Given the description of an element on the screen output the (x, y) to click on. 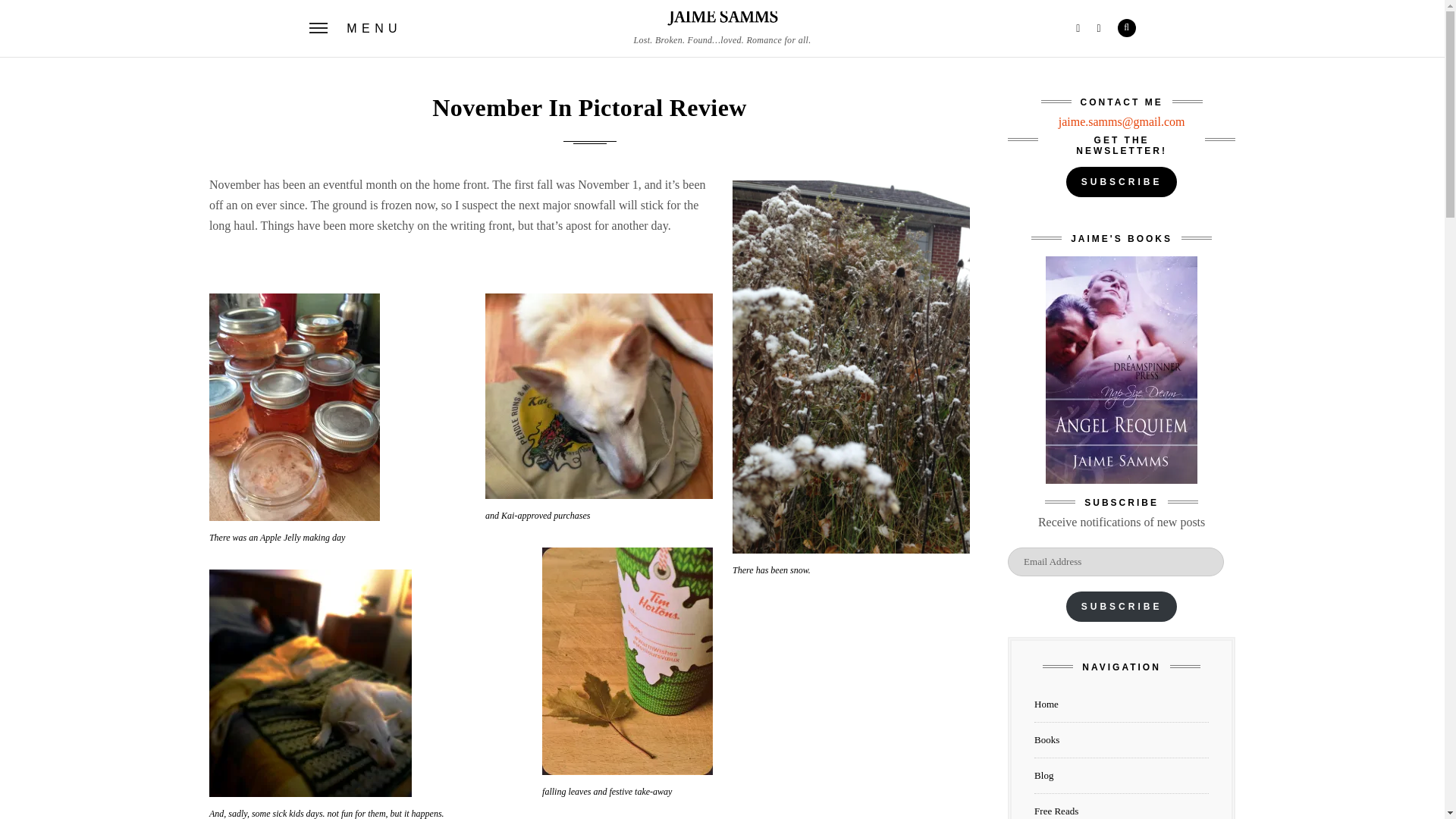
MENU (355, 28)
Jaime Samms (721, 21)
